Given the description of an element on the screen output the (x, y) to click on. 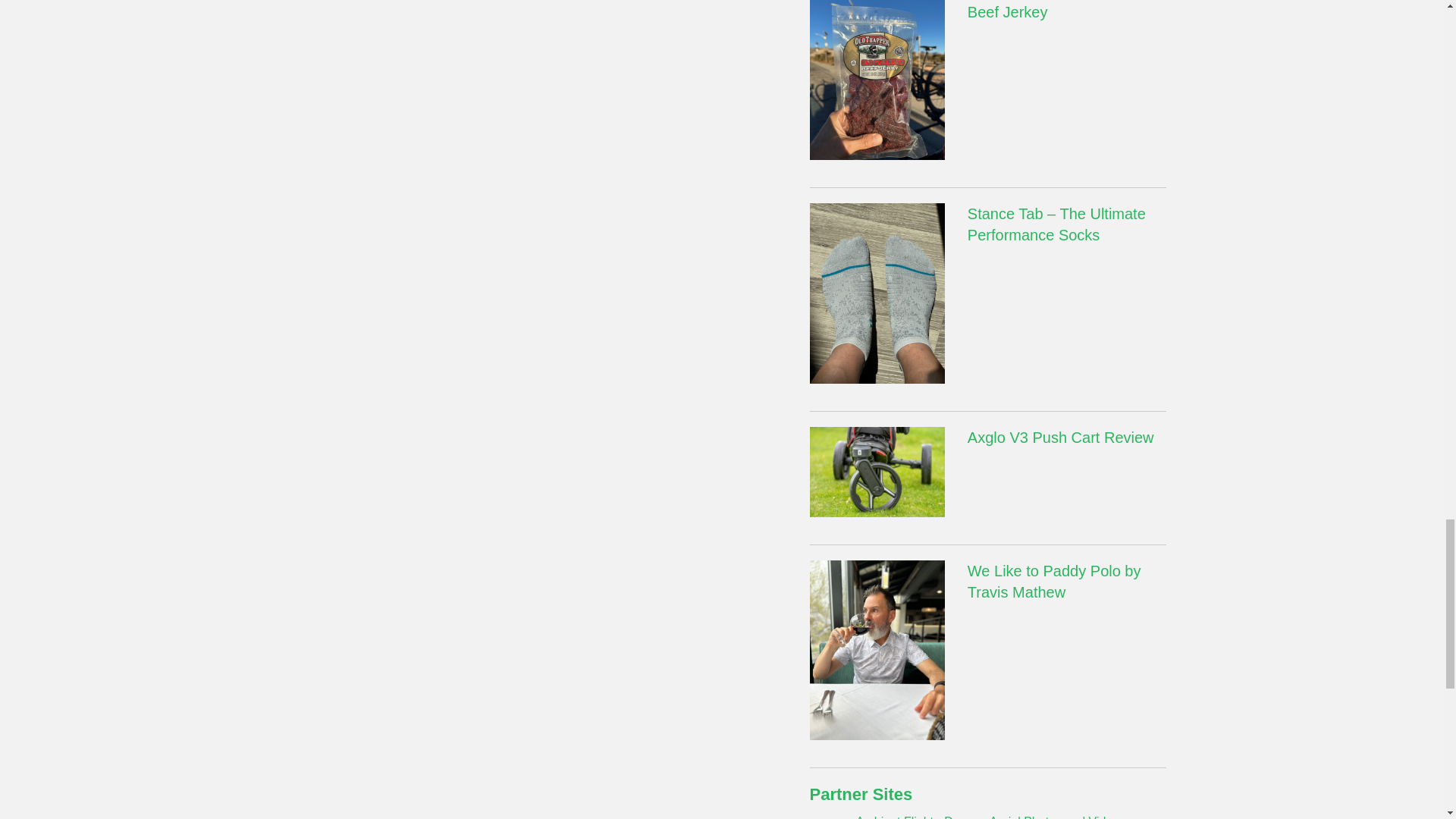
Old Trapper Old Fashioned Beef Jerkey (876, 69)
